Given the description of an element on the screen output the (x, y) to click on. 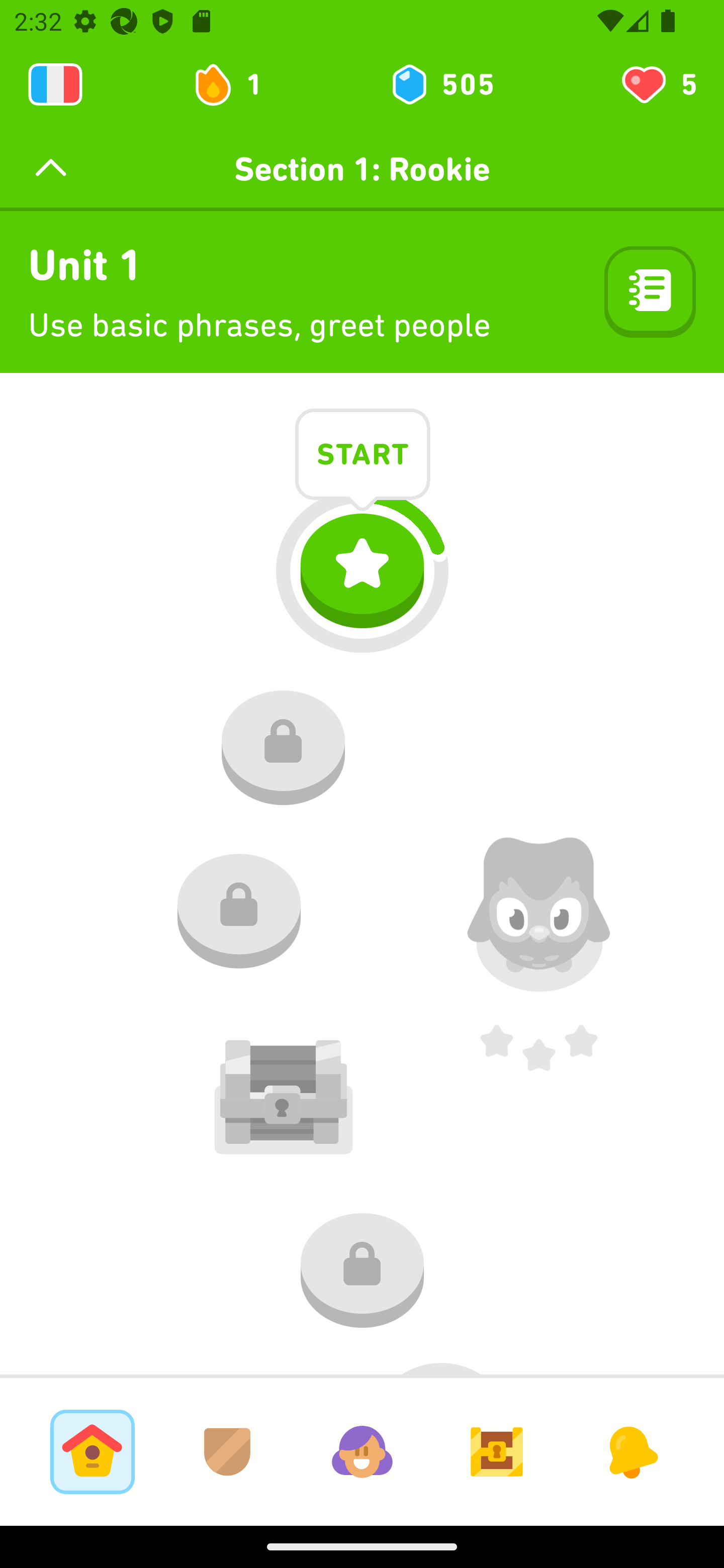
Learning 2131888976 (55, 84)
1 day streak 1 (236, 84)
505 (441, 84)
You have 5 hearts left 5 (657, 84)
Section 1: Rookie (362, 169)
START (362, 457)
Learn Tab (91, 1451)
Leagues Tab (227, 1451)
Profile Tab (361, 1451)
Goals Tab (496, 1451)
News Tab (631, 1451)
